Given the description of an element on the screen output the (x, y) to click on. 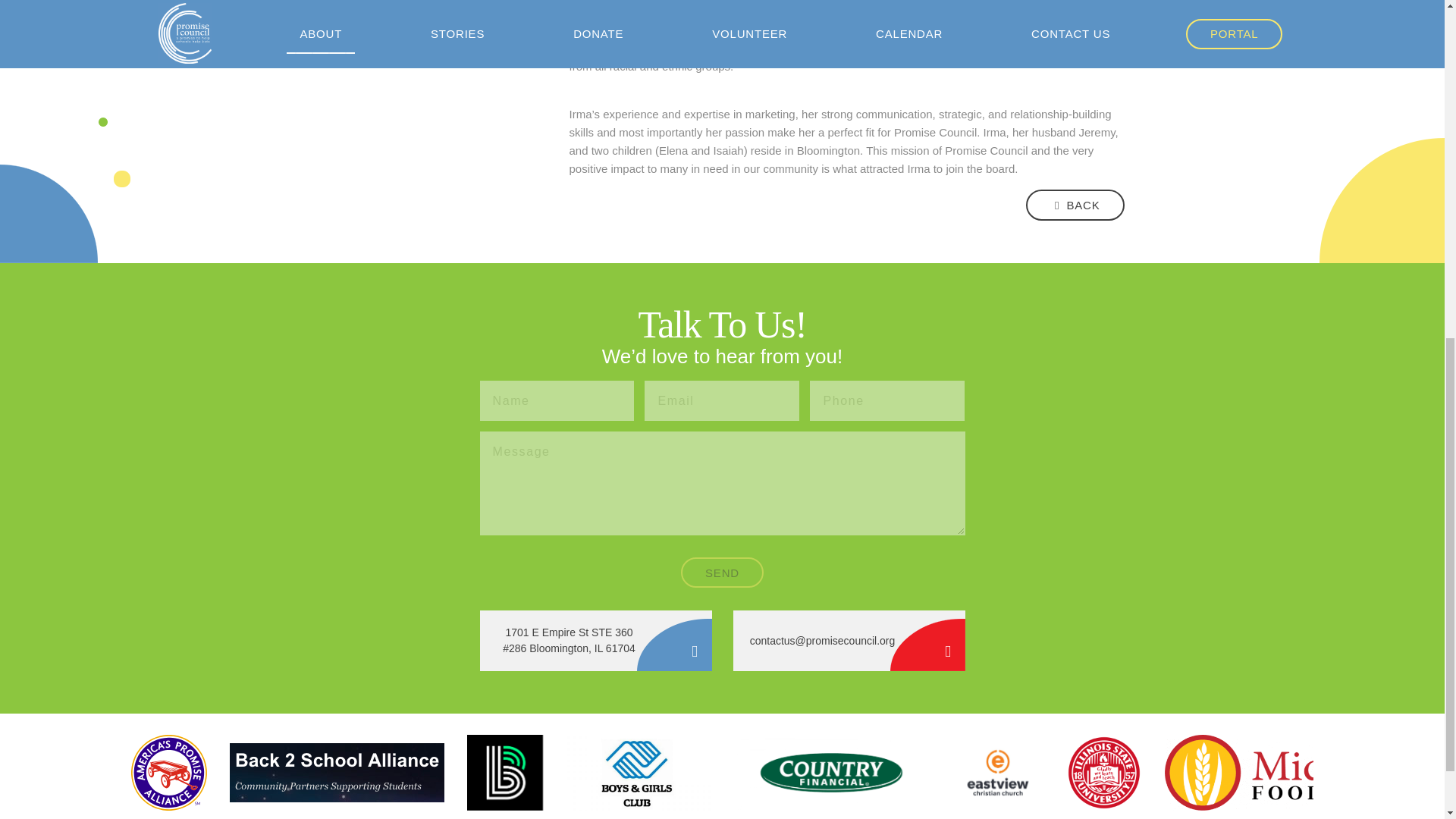
BACK (1075, 204)
SEND (721, 572)
